Given the description of an element on the screen output the (x, y) to click on. 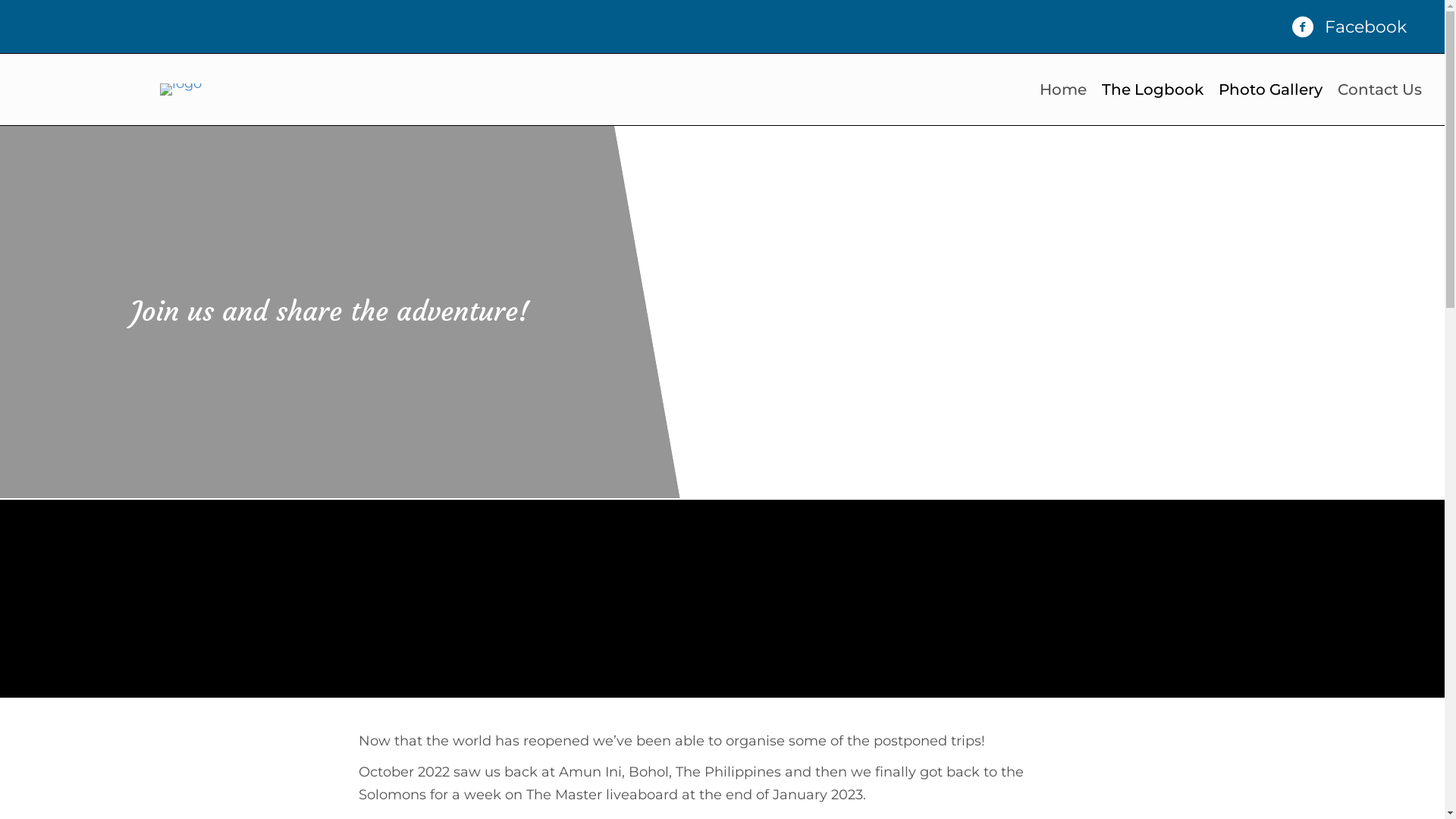
Home Element type: text (1063, 89)
logo Element type: hover (180, 89)
The Logbook Element type: text (1152, 89)
Facebook Element type: text (1365, 26)
Photo Gallery Element type: text (1270, 89)
Contact Us Element type: text (1379, 89)
